Given the description of an element on the screen output the (x, y) to click on. 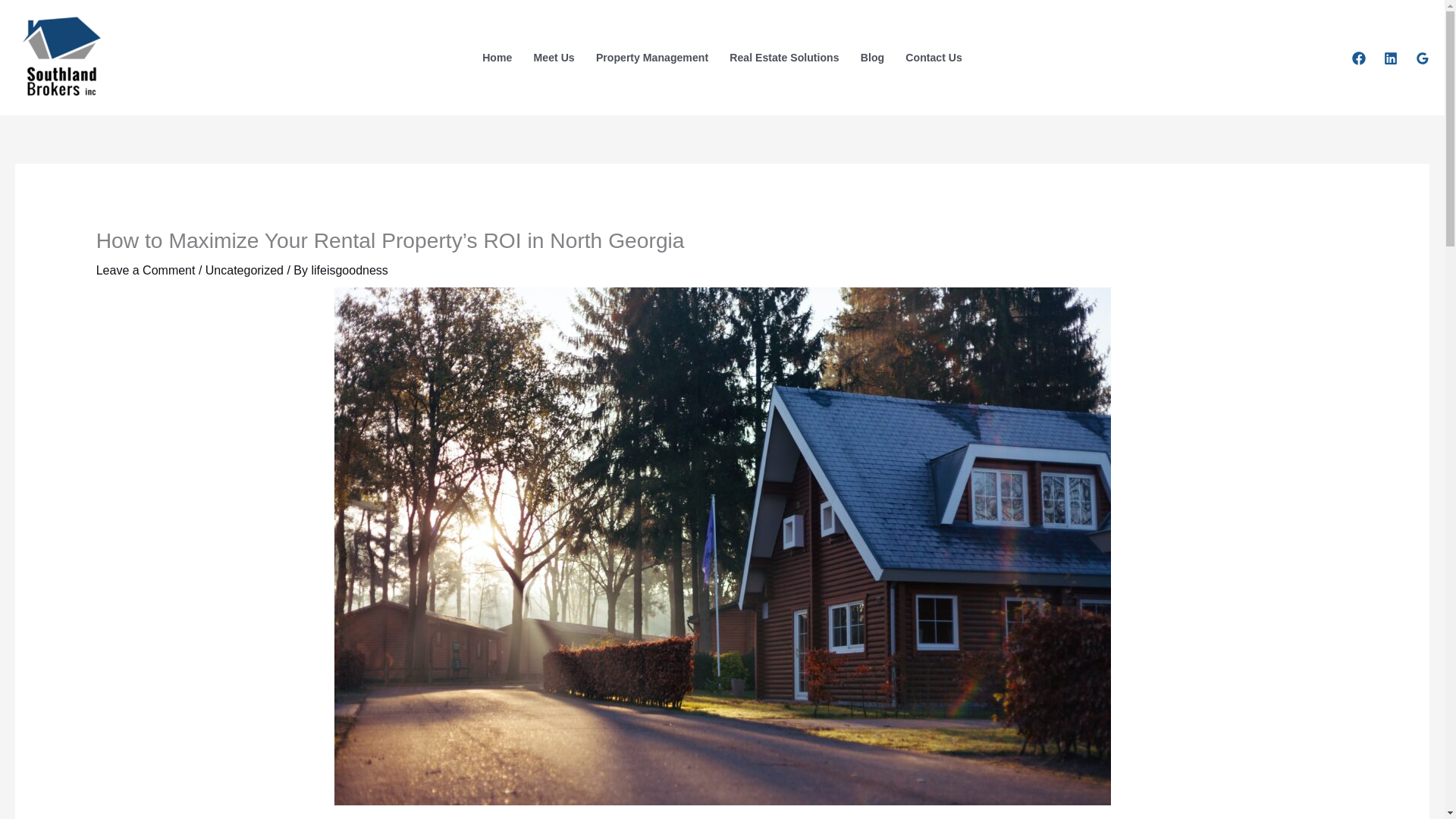
Real Estate Solutions (783, 57)
lifeisgoodness (349, 269)
Property Management (652, 57)
Contact Us (933, 57)
View all posts by lifeisgoodness (349, 269)
Uncategorized (244, 269)
Leave a Comment (145, 269)
